Given the description of an element on the screen output the (x, y) to click on. 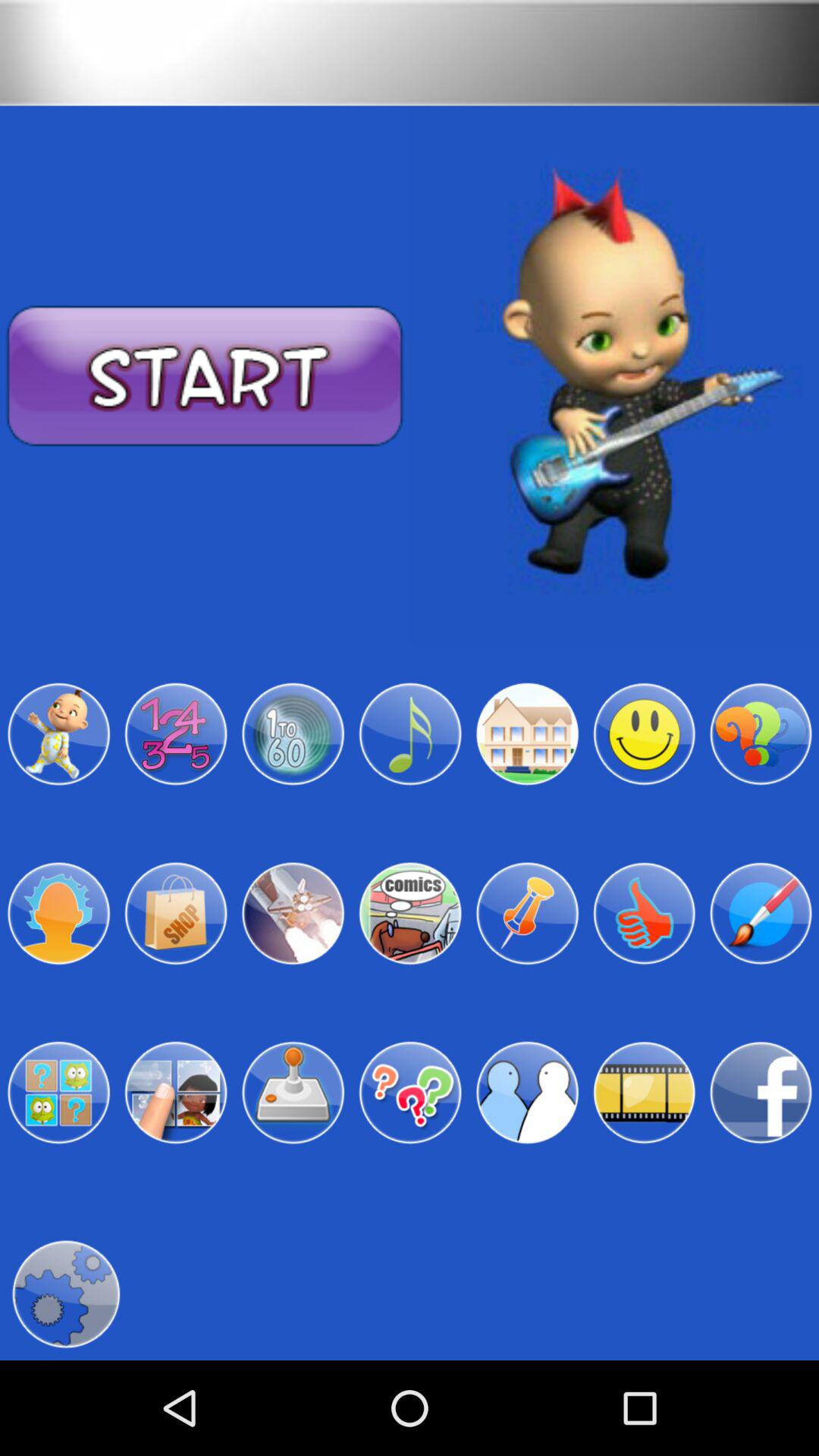
shop option (175, 913)
